Given the description of an element on the screen output the (x, y) to click on. 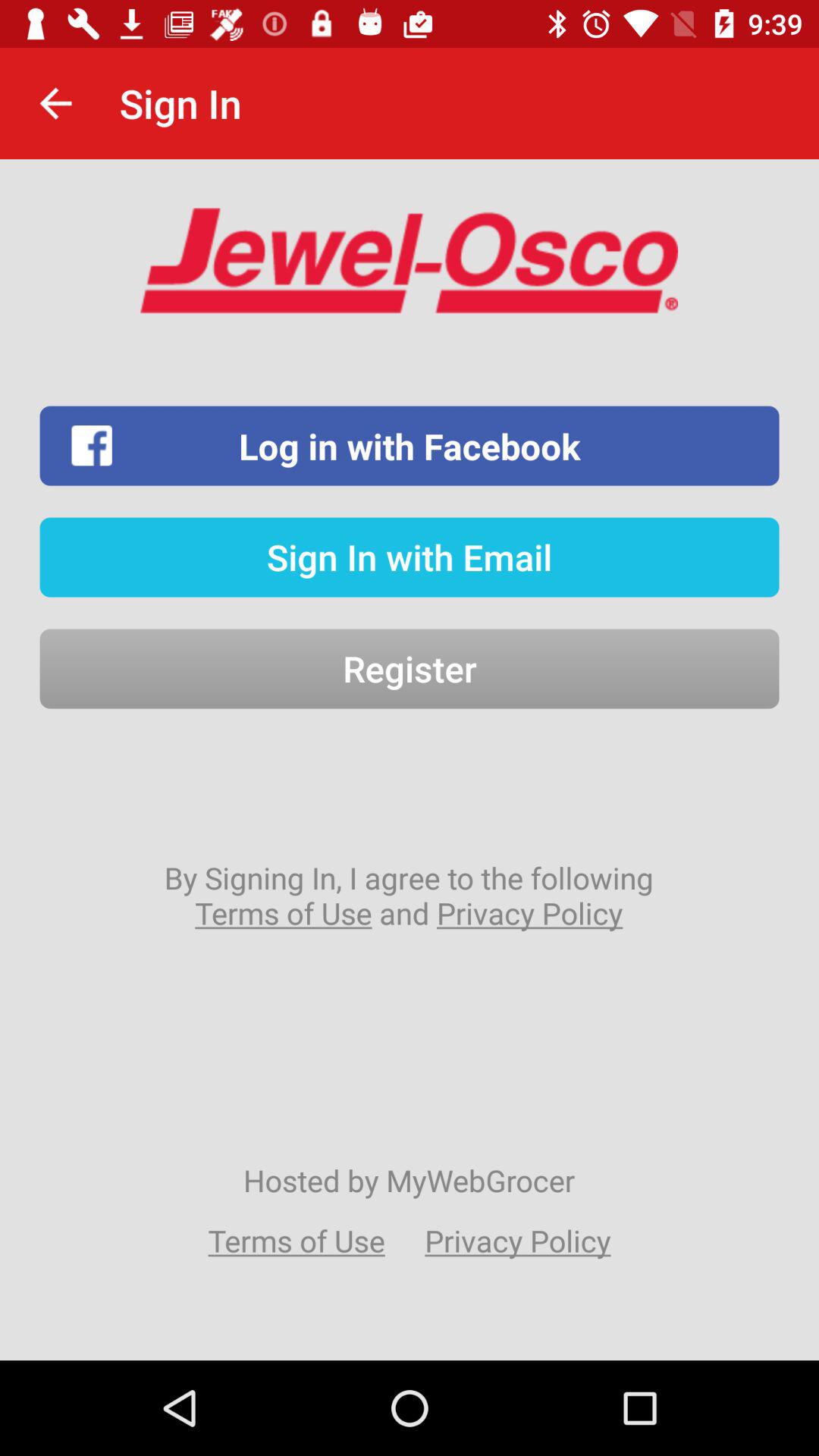
jump until the register icon (409, 668)
